Given the description of an element on the screen output the (x, y) to click on. 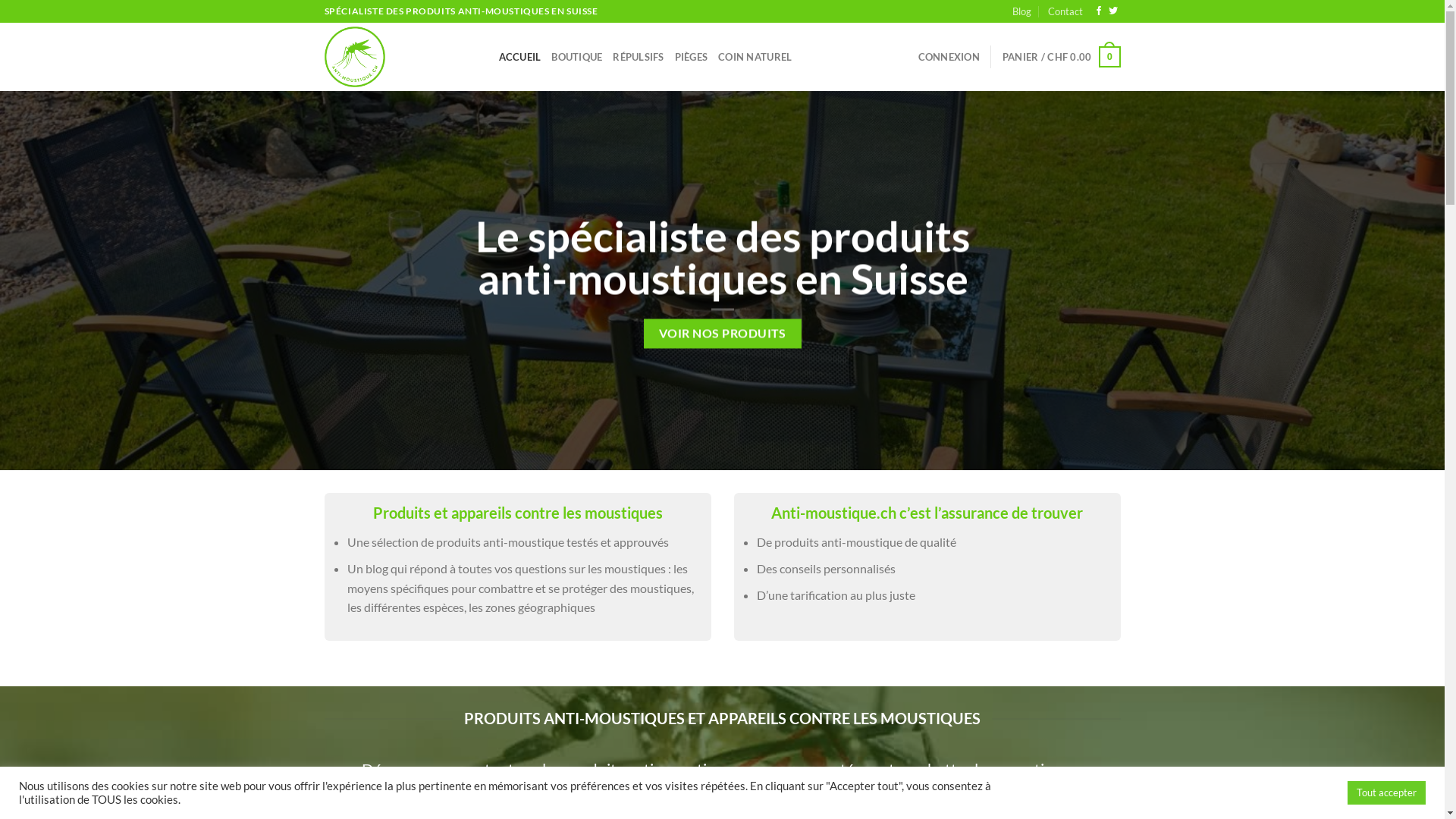
Blog Element type: text (1021, 11)
CONNEXION Element type: text (948, 56)
BOUTIQUE Element type: text (576, 56)
Tout accepter Element type: text (1386, 792)
COIN NATUREL Element type: text (754, 56)
Nous suivre sur Twitter Element type: hover (1112, 11)
ACCUEIL Element type: text (519, 56)
VOIR NOS PRODUITS Element type: text (721, 333)
PANIER / CHF 0.00
0 Element type: text (1061, 56)
Nous suivre sur Facebook Element type: hover (1098, 11)
Contact Element type: text (1065, 11)
